Given the description of an element on the screen output the (x, y) to click on. 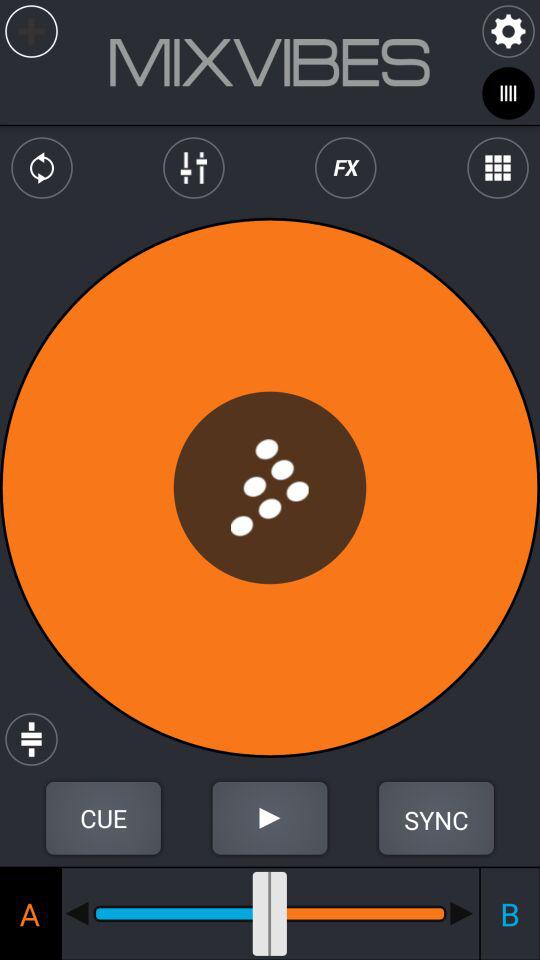
select the repeat icon (41, 167)
